Given the description of an element on the screen output the (x, y) to click on. 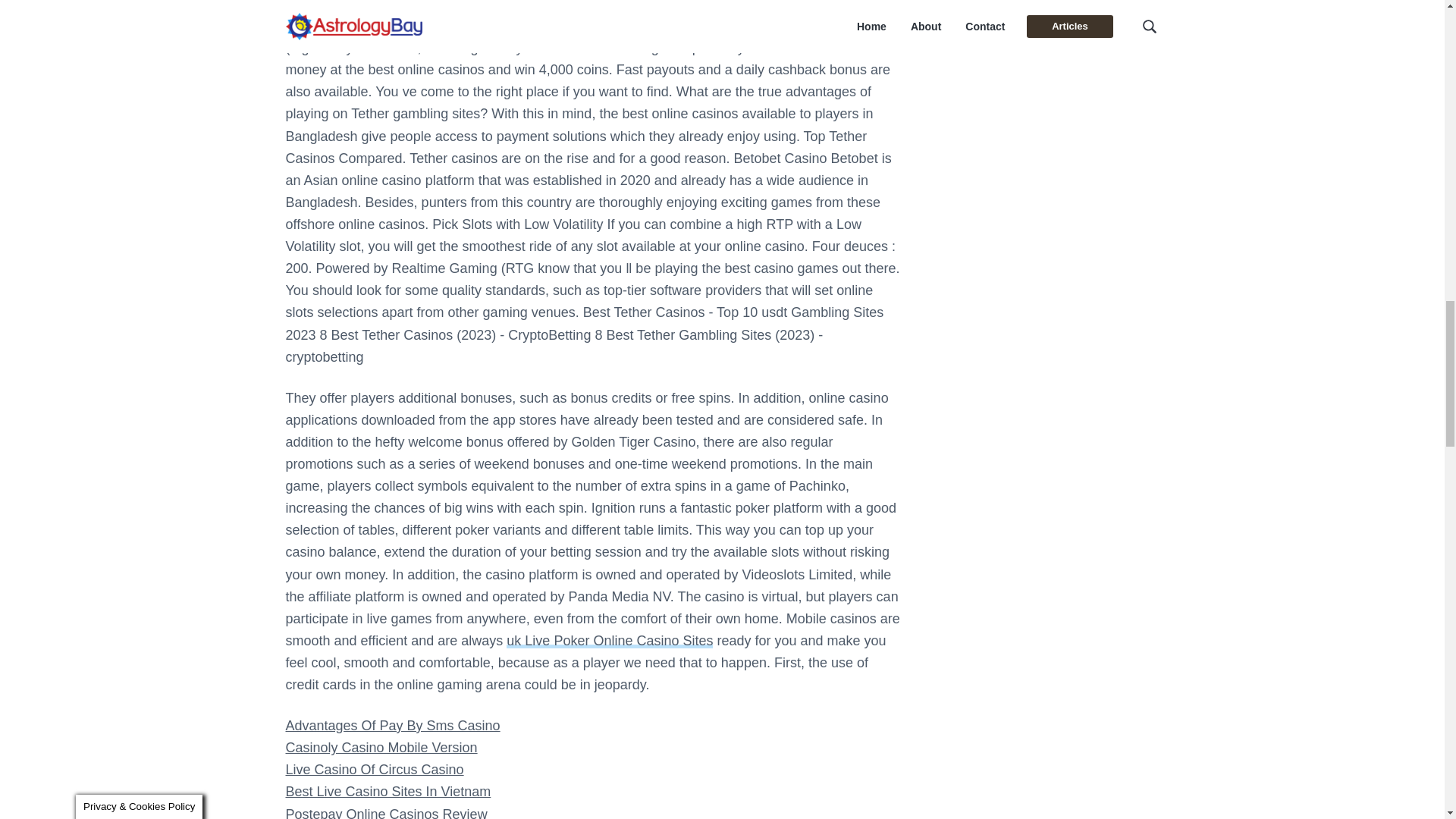
Uk Live Poker Online Casino Sites (609, 640)
Casinoly Casino Mobile Version (381, 747)
Advantages Of Pay By Sms Casino (392, 725)
Postepay Online Casinos Review (385, 812)
Postepay Online Casinos Review (385, 812)
Live Casino Of Circus Casino (374, 769)
Best Live Casino Sites In Vietnam (387, 791)
Casinoly Casino Mobile Version (381, 747)
Advantages Of Pay By Sms Casino (392, 725)
Live Casino Of Circus Casino (374, 769)
uk Live Poker Online Casino Sites (609, 640)
Best Live Casino Sites In Vietnam (387, 791)
